Given the description of an element on the screen output the (x, y) to click on. 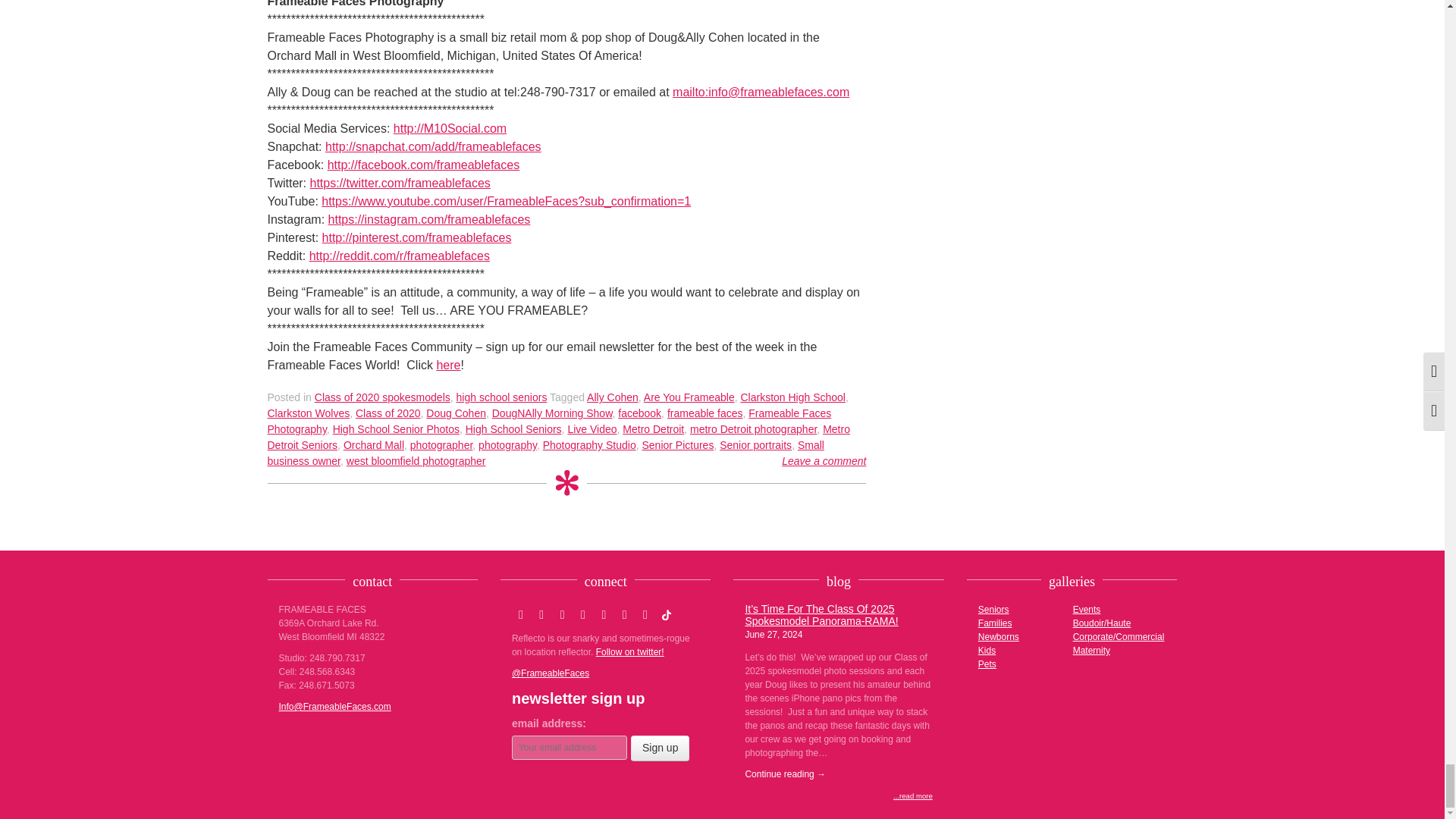
Sign up (659, 748)
